Given the description of an element on the screen output the (x, y) to click on. 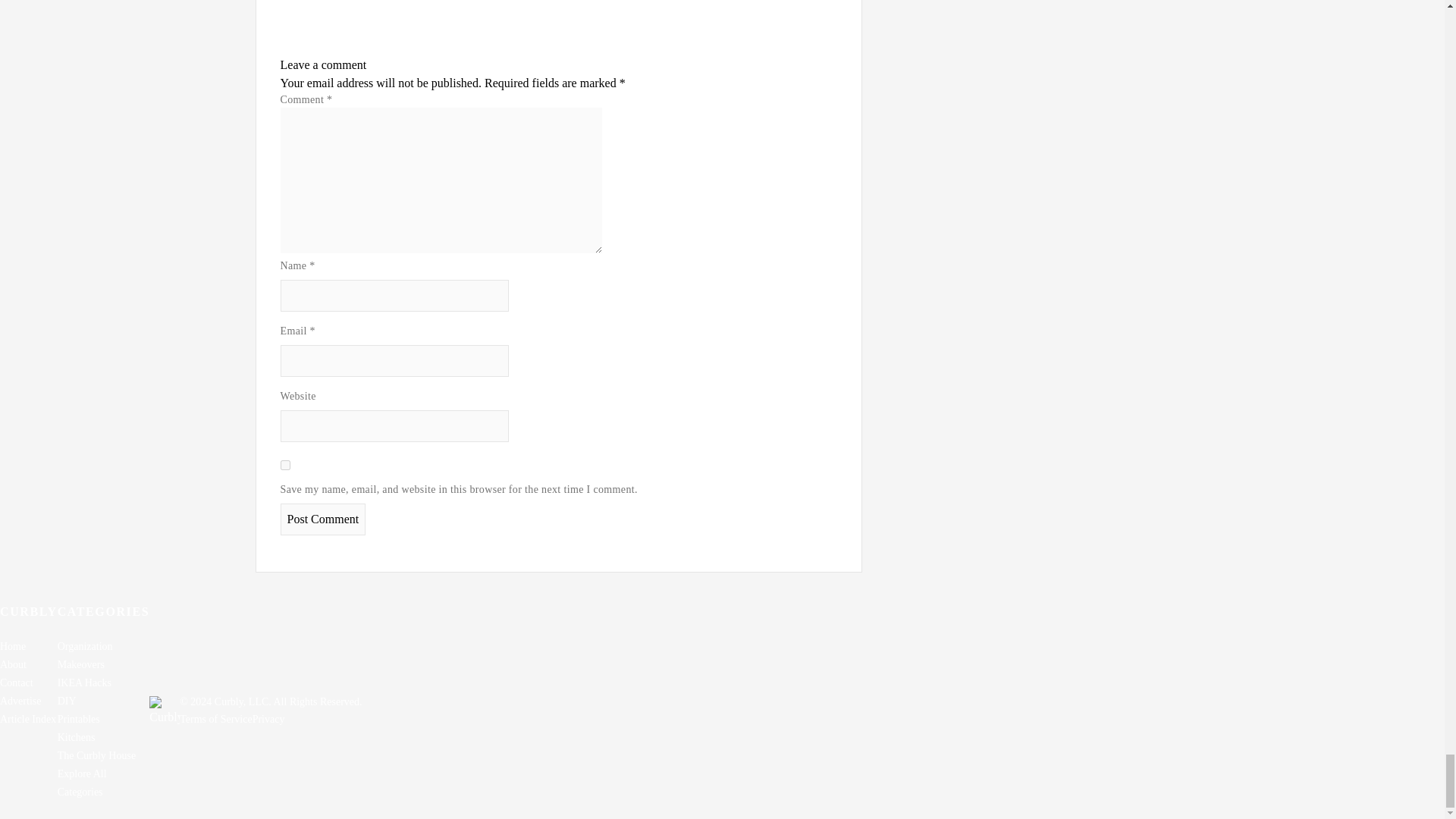
yes (285, 465)
Post Comment (323, 519)
Post Comment (323, 519)
